Given the description of an element on the screen output the (x, y) to click on. 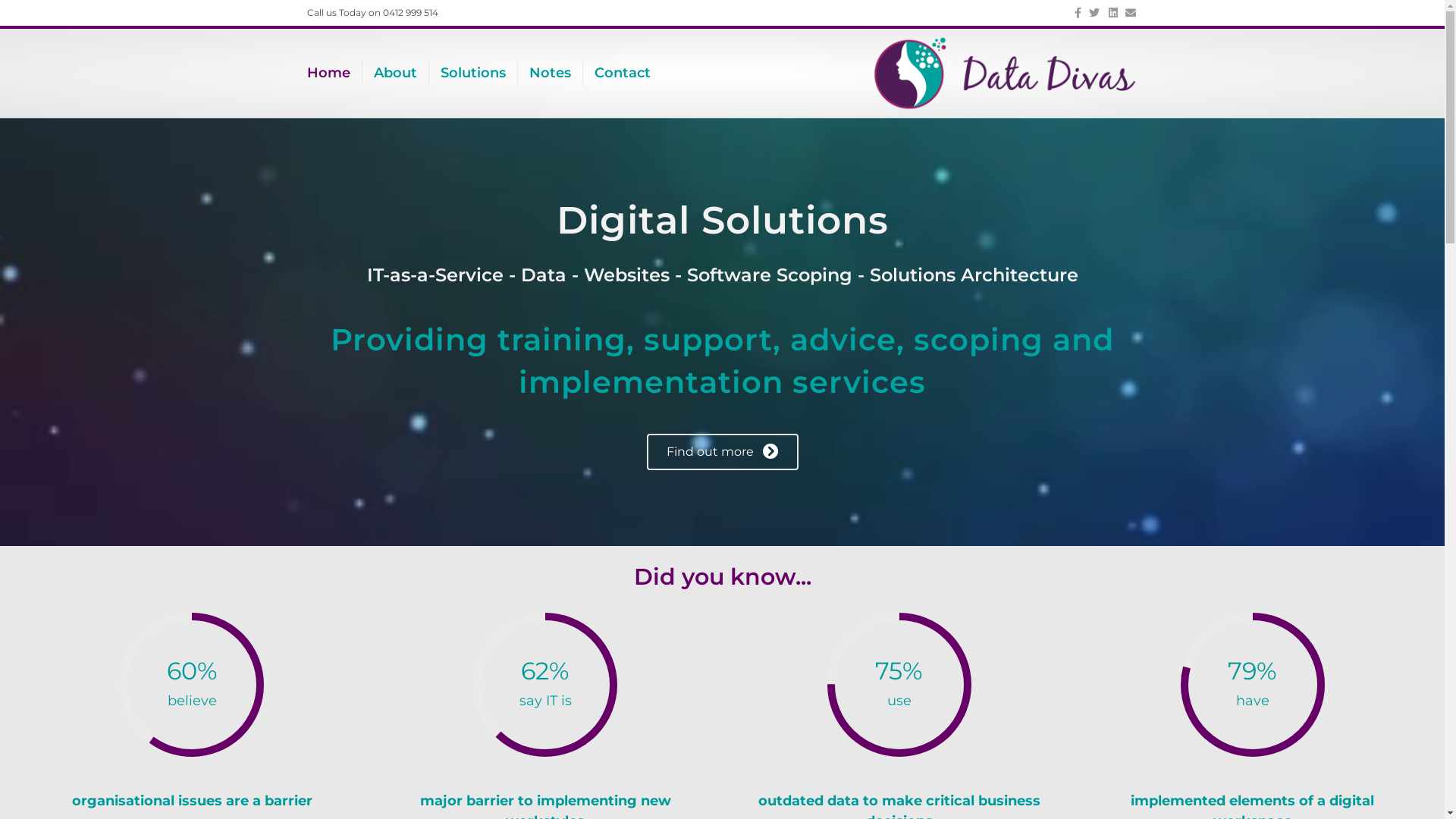
Solutions Element type: text (473, 72)
Email Element type: text (1126, 11)
Notes Element type: text (550, 72)
Find out more Element type: text (721, 451)
Facebook Element type: text (1072, 11)
Twitter Element type: text (1090, 11)
Linkedin Element type: text (1108, 11)
Home Element type: text (334, 72)
Contact Element type: text (622, 72)
About Element type: text (395, 72)
